Given the description of an element on the screen output the (x, y) to click on. 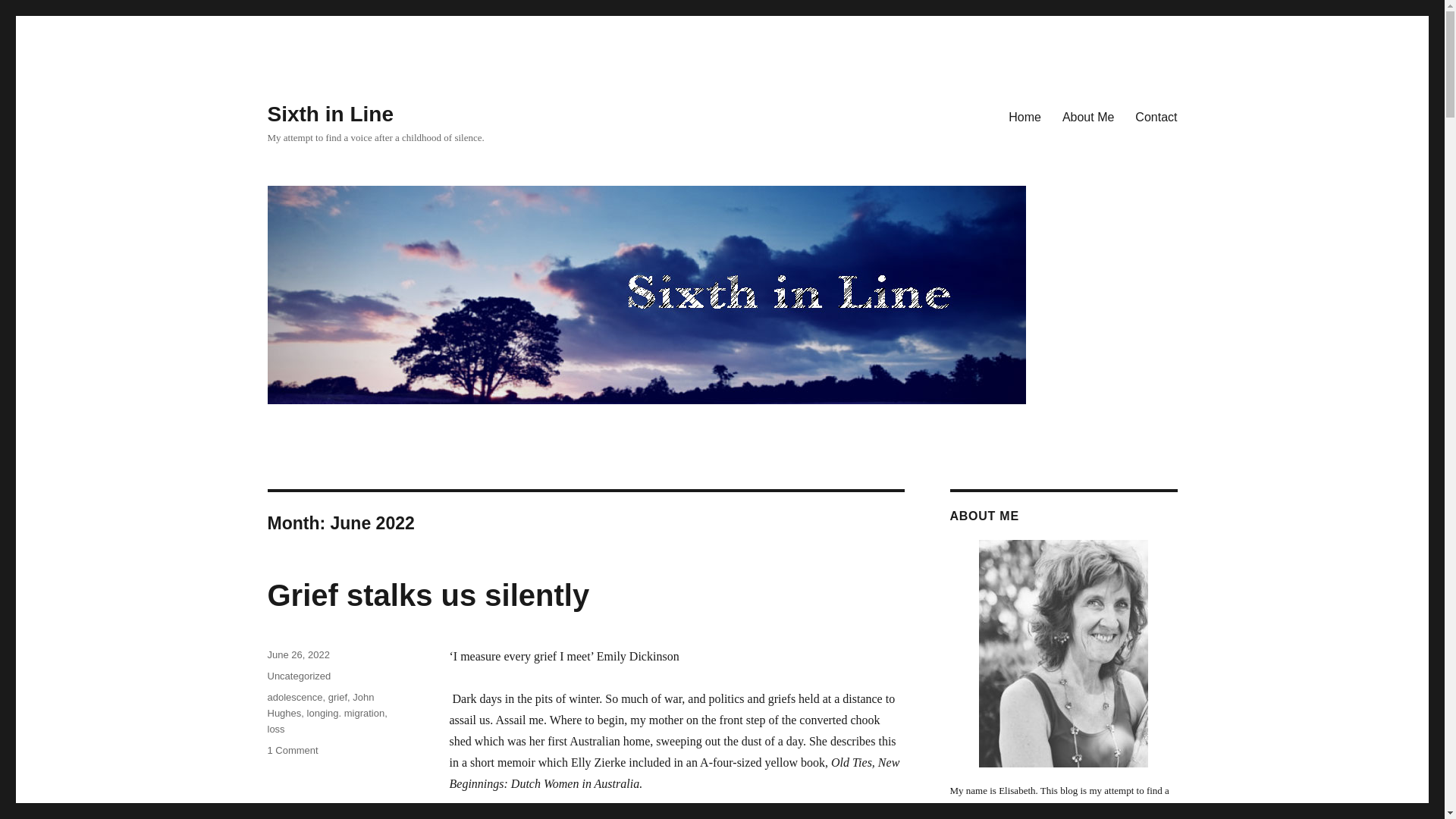
June 26, 2022 (297, 654)
Grief stalks us silently (427, 594)
John Hughes (320, 705)
grief (338, 696)
loss (274, 728)
Contact (1156, 116)
Uncategorized (298, 675)
About Me (1087, 116)
adolescence (293, 696)
Home (291, 749)
longing. migration (1024, 116)
Sixth in Line (346, 713)
